Given the description of an element on the screen output the (x, y) to click on. 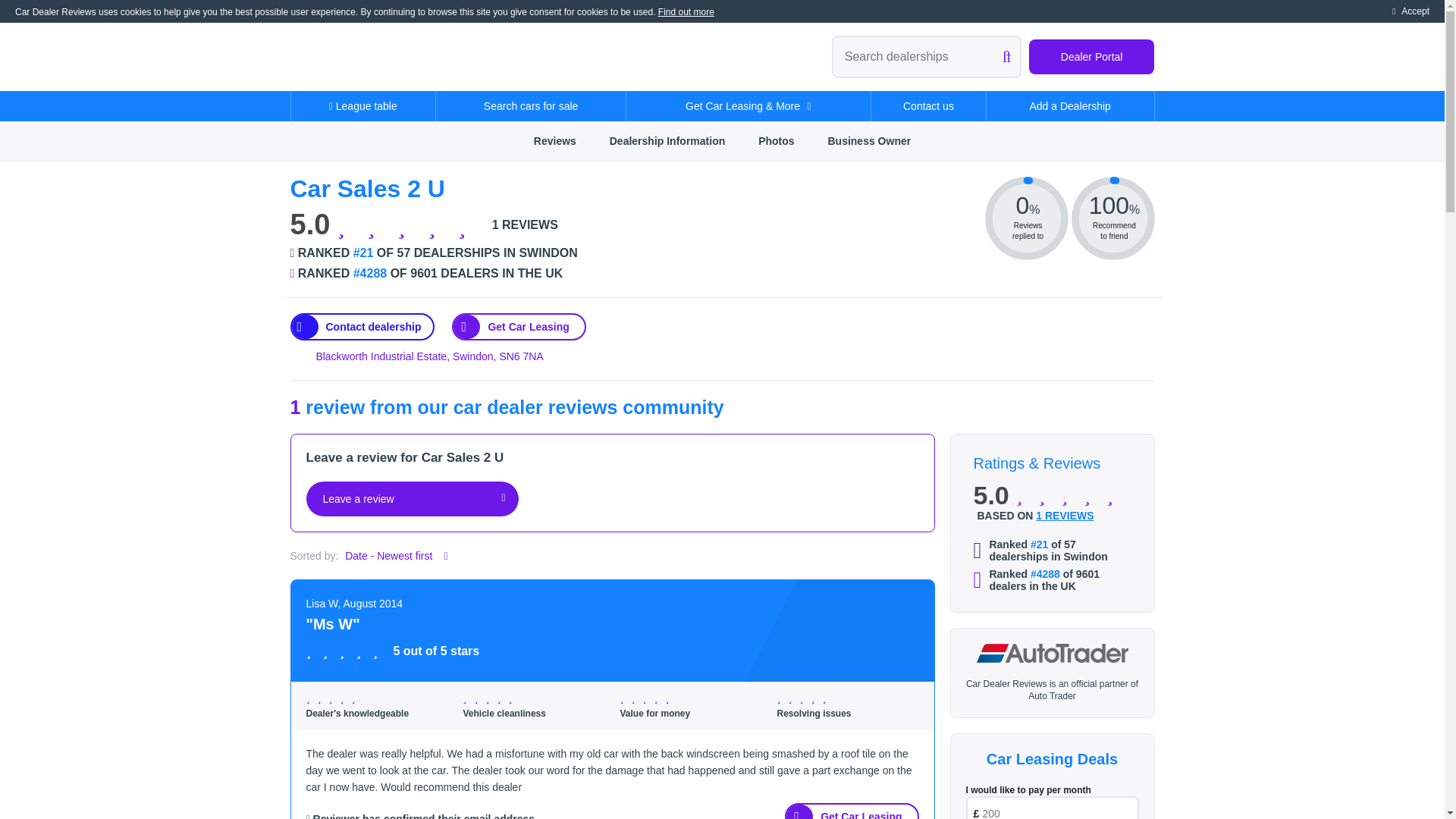
Poor (322, 698)
Very Good (344, 698)
Go to league table (432, 273)
Reviews (554, 140)
Accept (1410, 11)
Photos (775, 140)
Excellent (469, 225)
Contact us (928, 105)
Business Owner (869, 140)
Poor (479, 698)
